Given the description of an element on the screen output the (x, y) to click on. 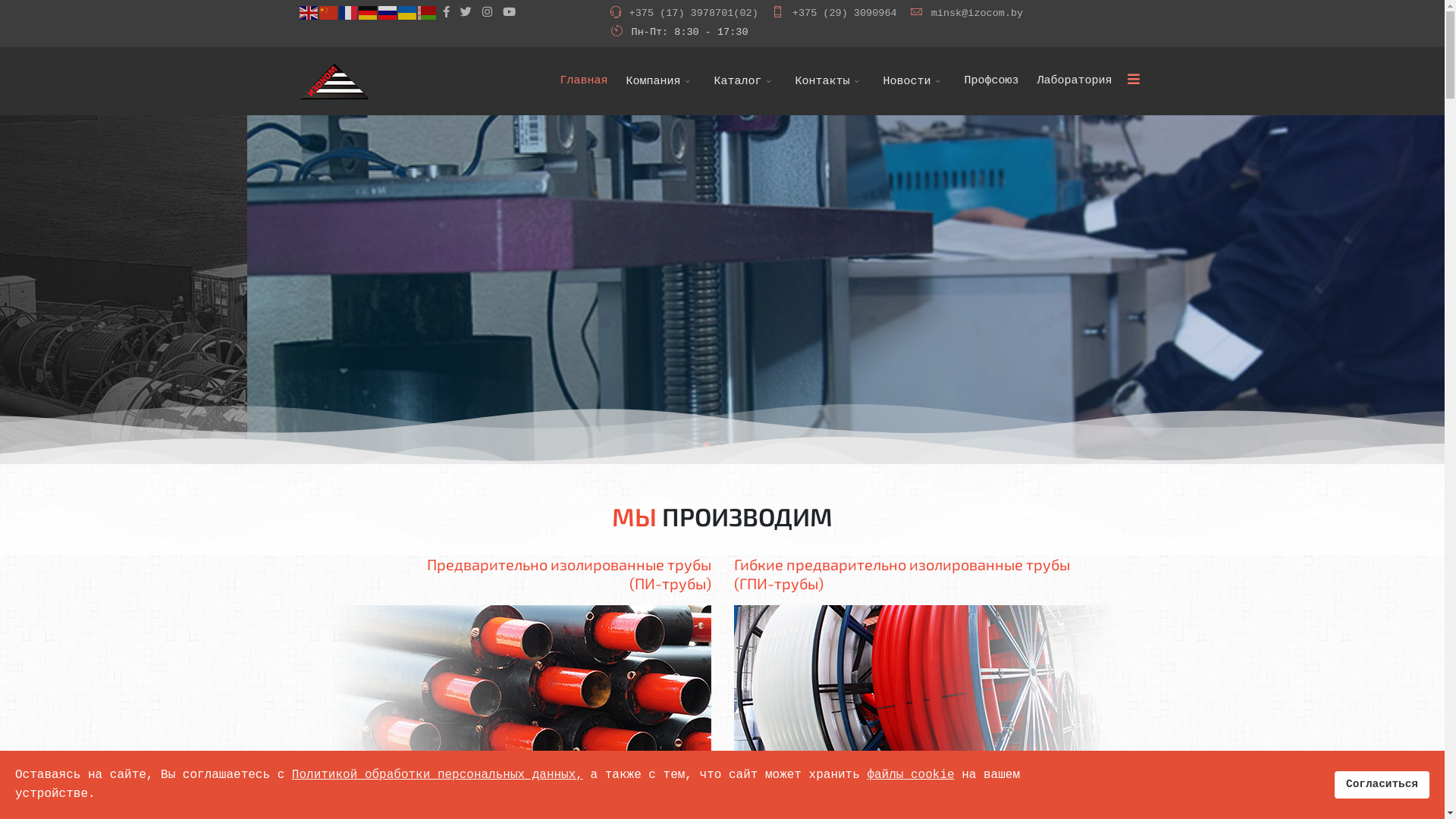
French Element type: hover (347, 12)
Ukrainian Element type: hover (407, 12)
+375 (29) 3090964 Element type: text (844, 12)
minsk@izocom.by Element type: text (977, 12)
Menu Element type: hover (1132, 78)
Chinese (Simplified) Element type: hover (328, 12)
Belarusian Element type: hover (426, 12)
Russian Element type: hover (387, 12)
English Element type: hover (308, 12)
German Element type: hover (367, 12)
+375 (17) 3978701(02) Element type: text (693, 12)
